Given the description of an element on the screen output the (x, y) to click on. 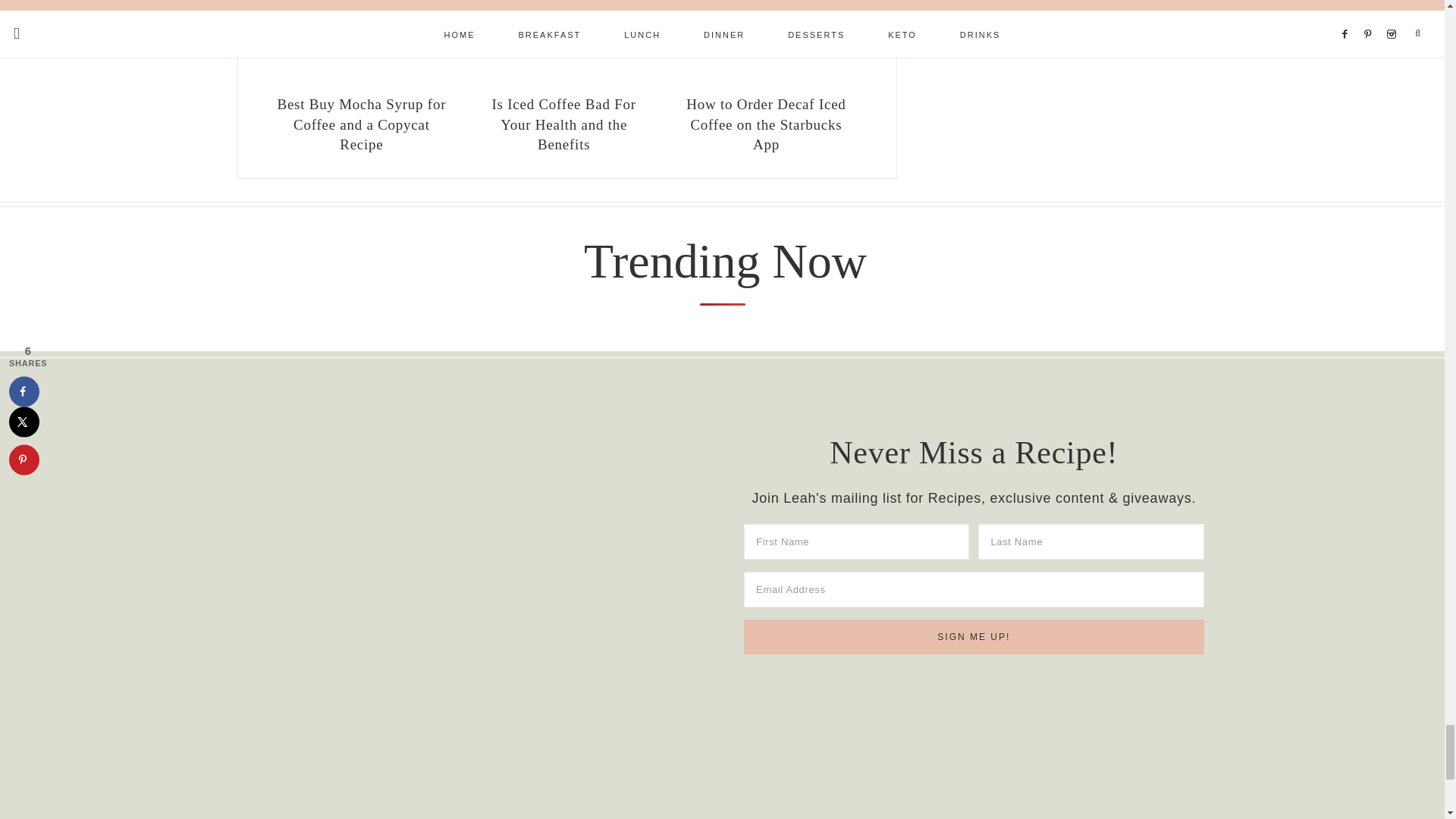
Sign Me Up! (974, 636)
